Given the description of an element on the screen output the (x, y) to click on. 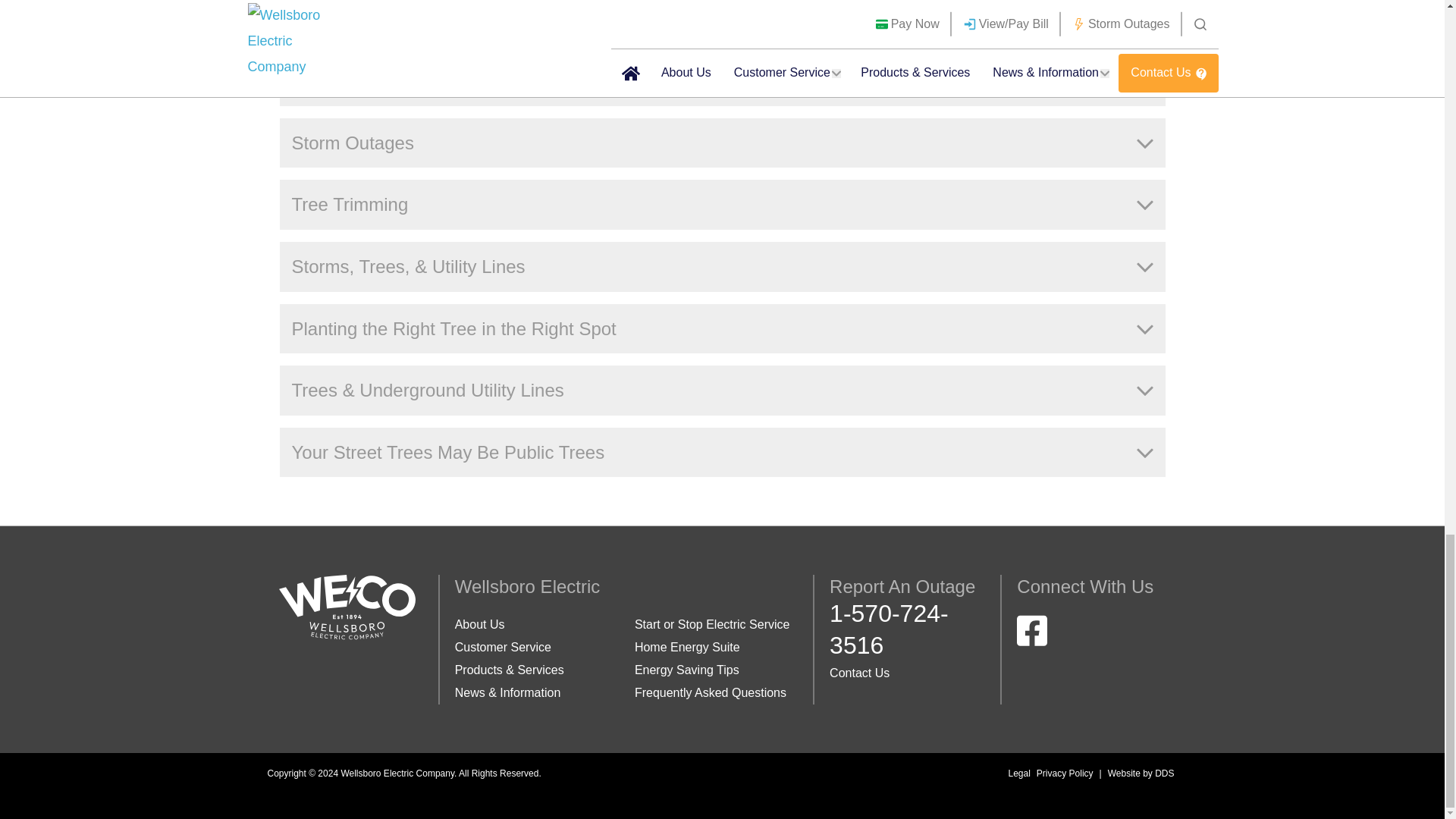
Tree Trimming (721, 204)
Electrical Hazards (721, 81)
Storm Outages (721, 142)
